Given the description of an element on the screen output the (x, y) to click on. 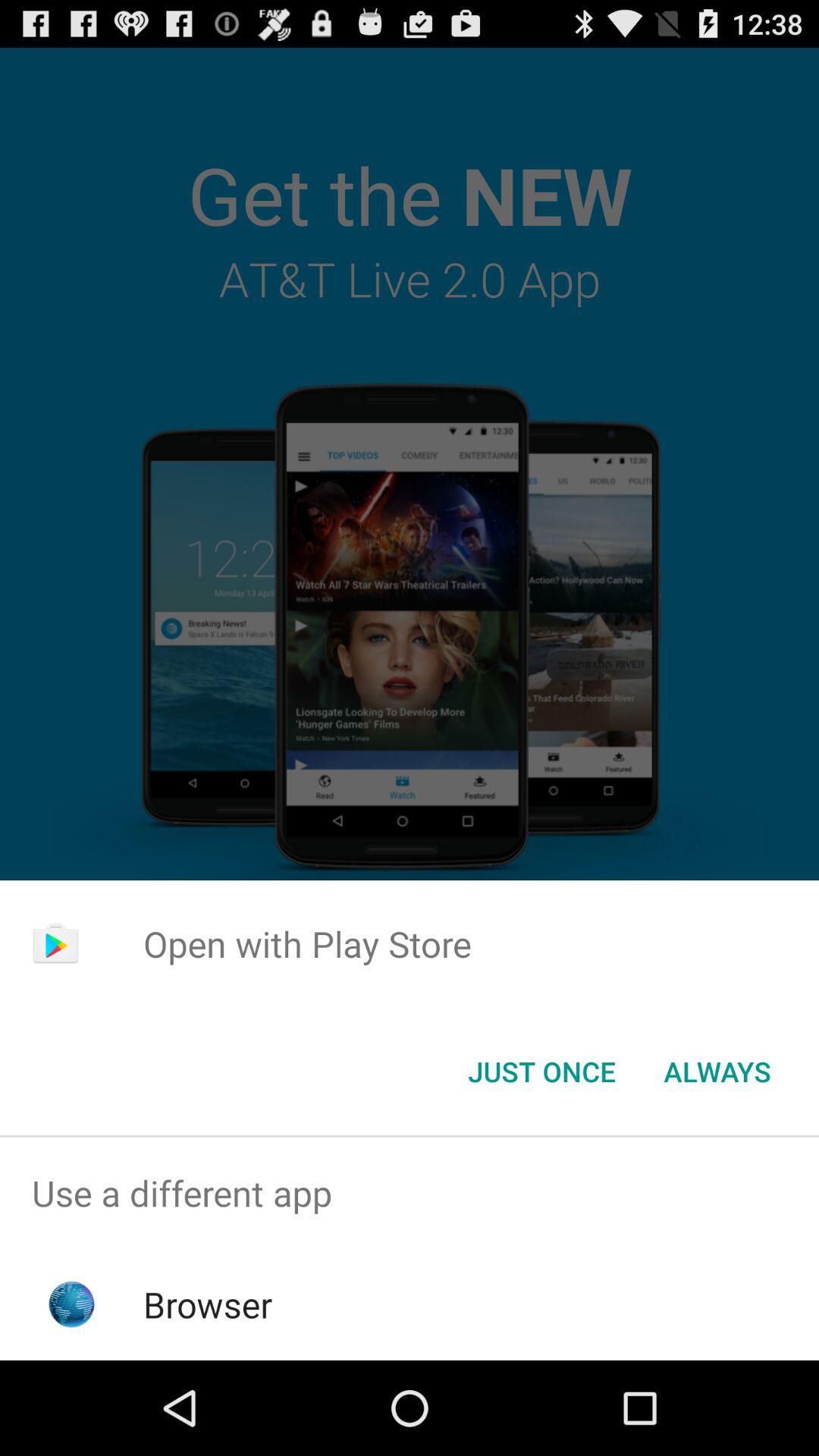
flip until the just once item (541, 1071)
